Given the description of an element on the screen output the (x, y) to click on. 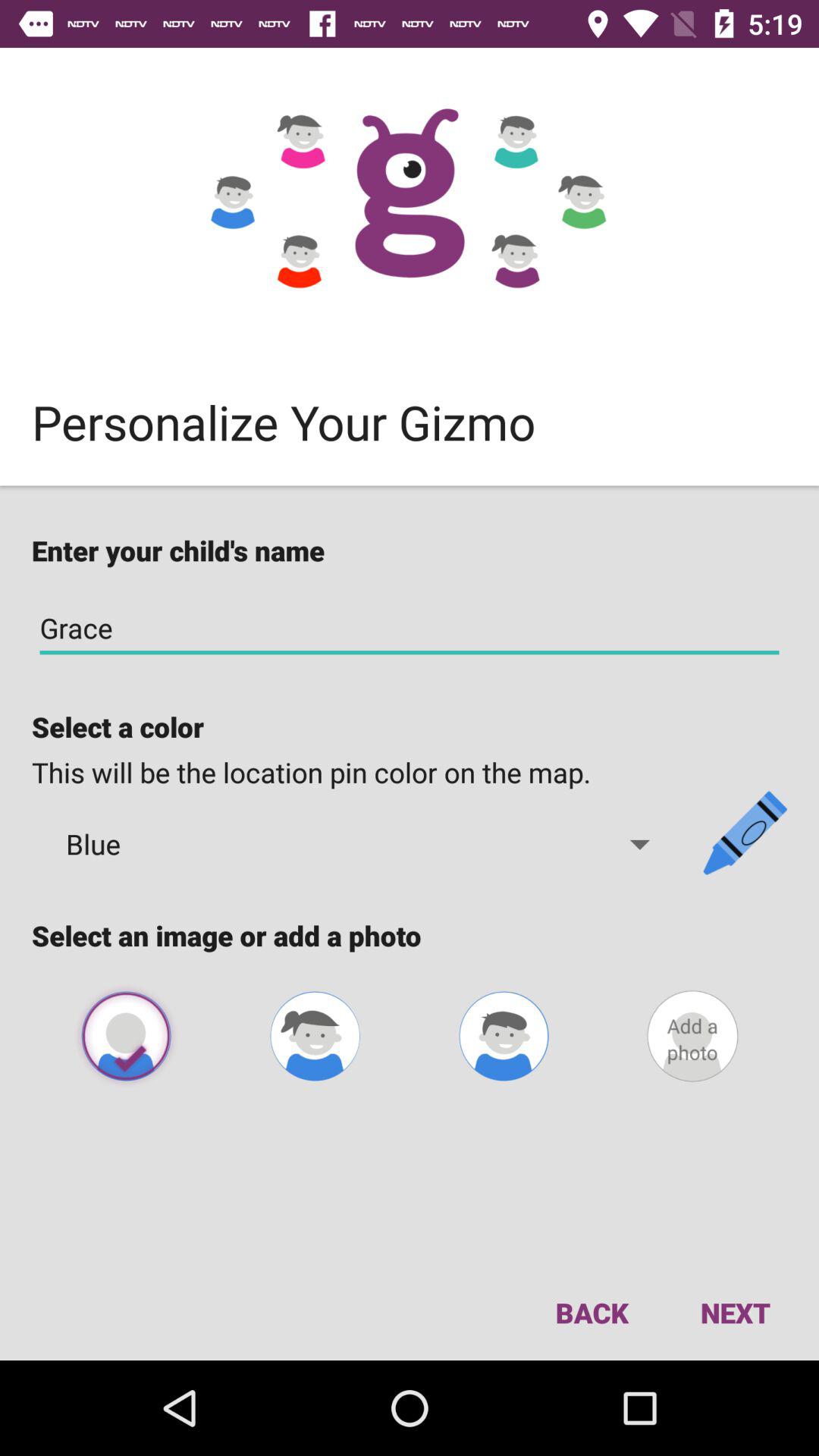
profile photo (692, 1036)
